Given the description of an element on the screen output the (x, y) to click on. 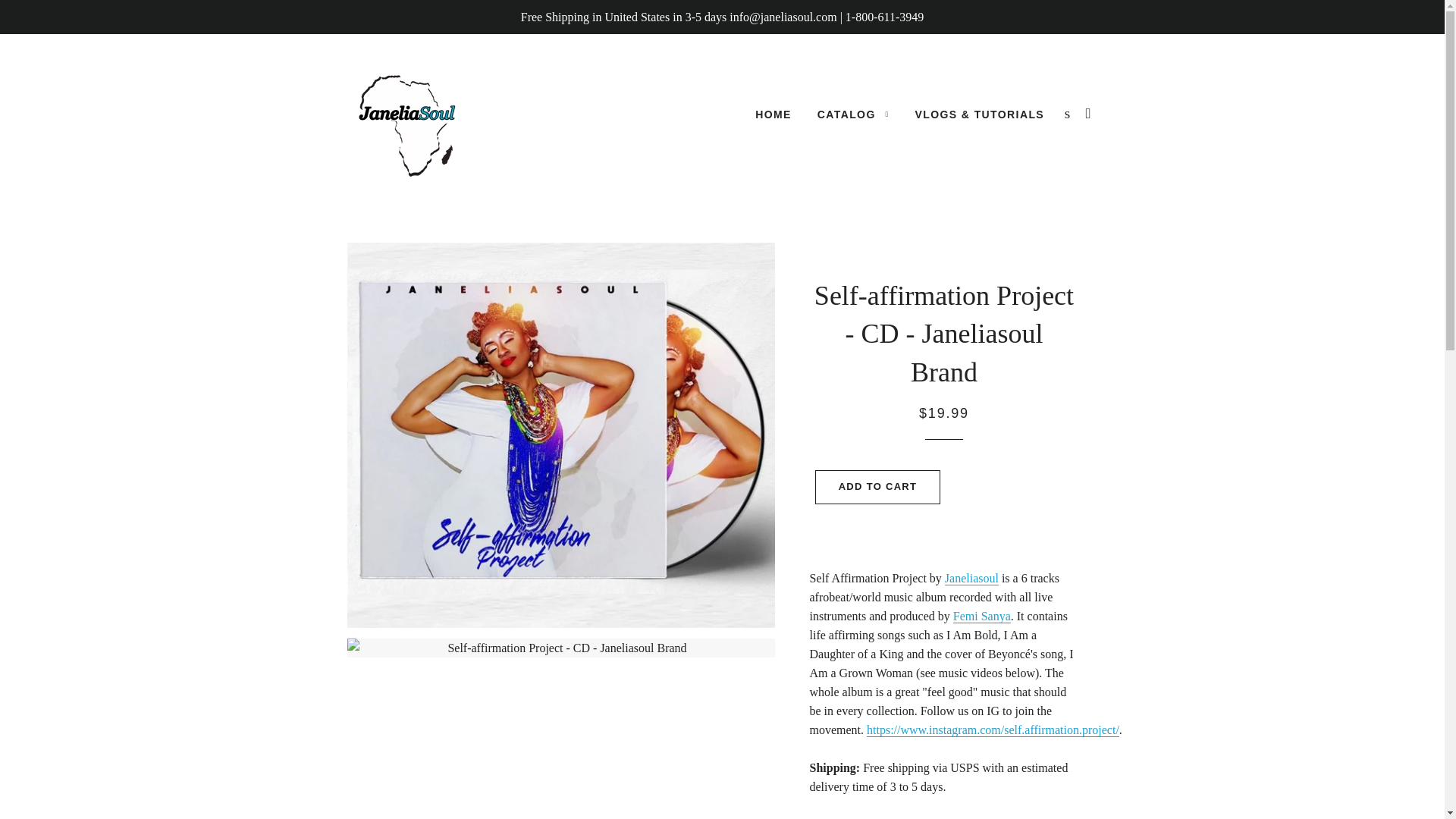
CATALOG (853, 115)
ADD TO CART (877, 486)
Janeliasoul (971, 578)
HOME (773, 115)
Femi Sanya (981, 616)
